Given the description of an element on the screen output the (x, y) to click on. 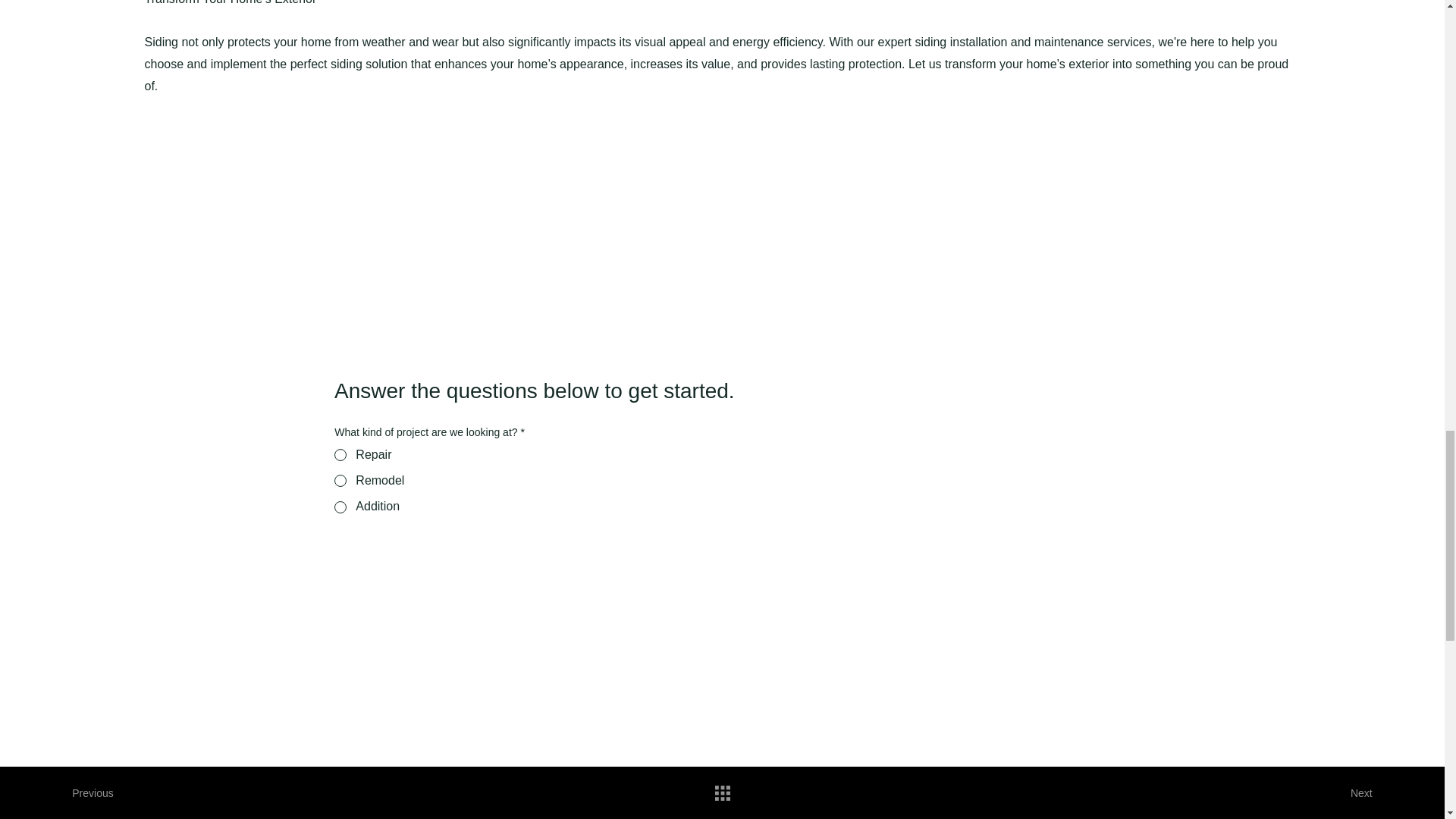
Previous (101, 793)
Next (1342, 793)
